Given the description of an element on the screen output the (x, y) to click on. 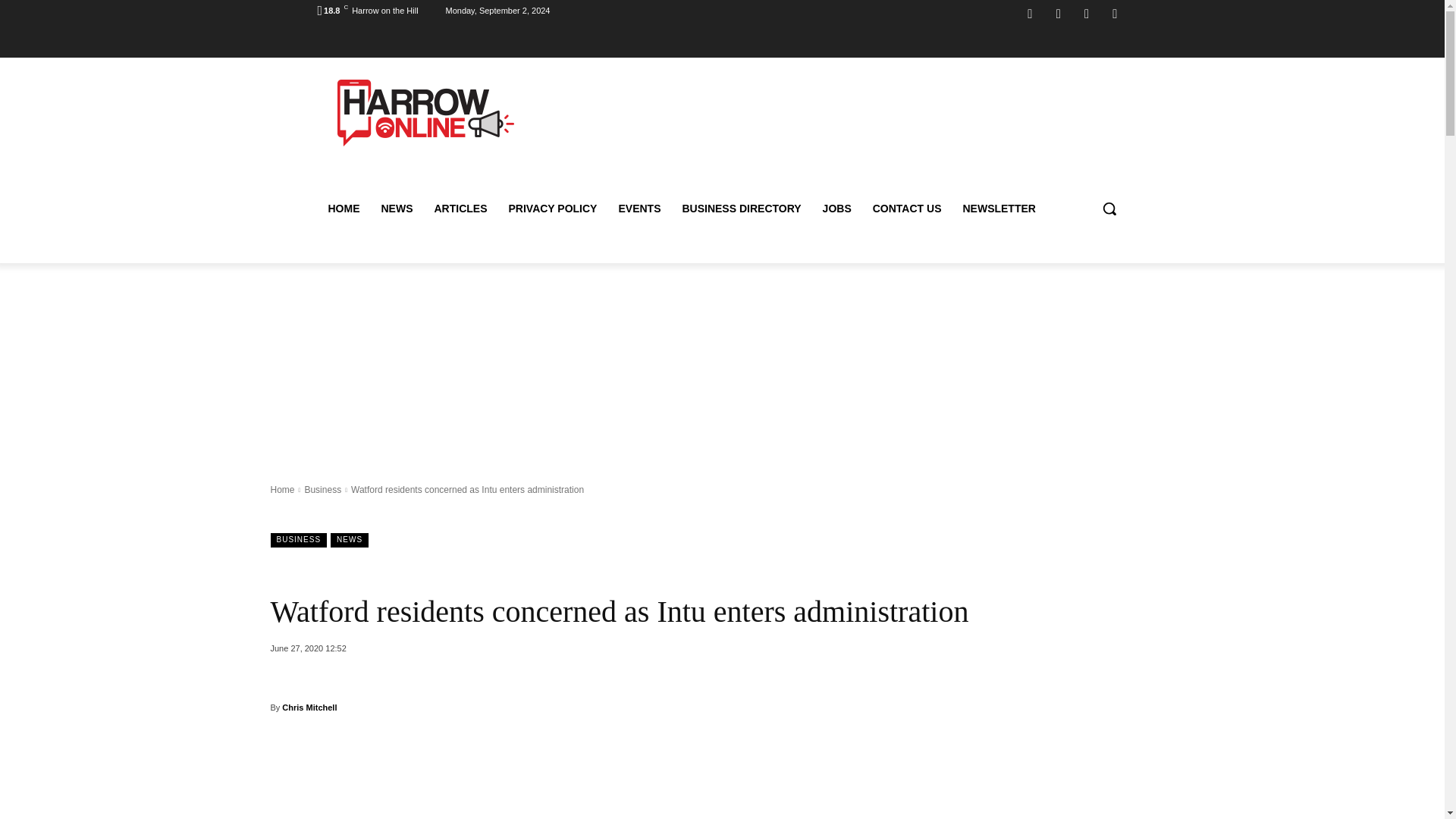
NEWSLETTER (998, 208)
Twitter (1114, 13)
Instagram (1058, 13)
ARTICLES (460, 208)
BUSINESS DIRECTORY (740, 208)
TikTok (1086, 13)
HOME (343, 208)
CONTACT US (906, 208)
PRIVACY POLICY (552, 208)
JOBS (836, 208)
